Given the description of an element on the screen output the (x, y) to click on. 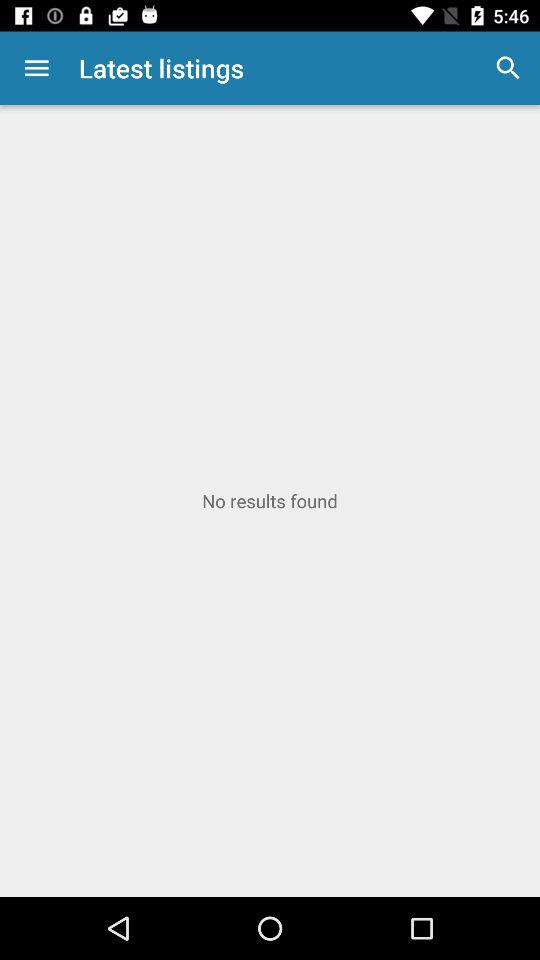
press item next to latest listings (508, 67)
